Given the description of an element on the screen output the (x, y) to click on. 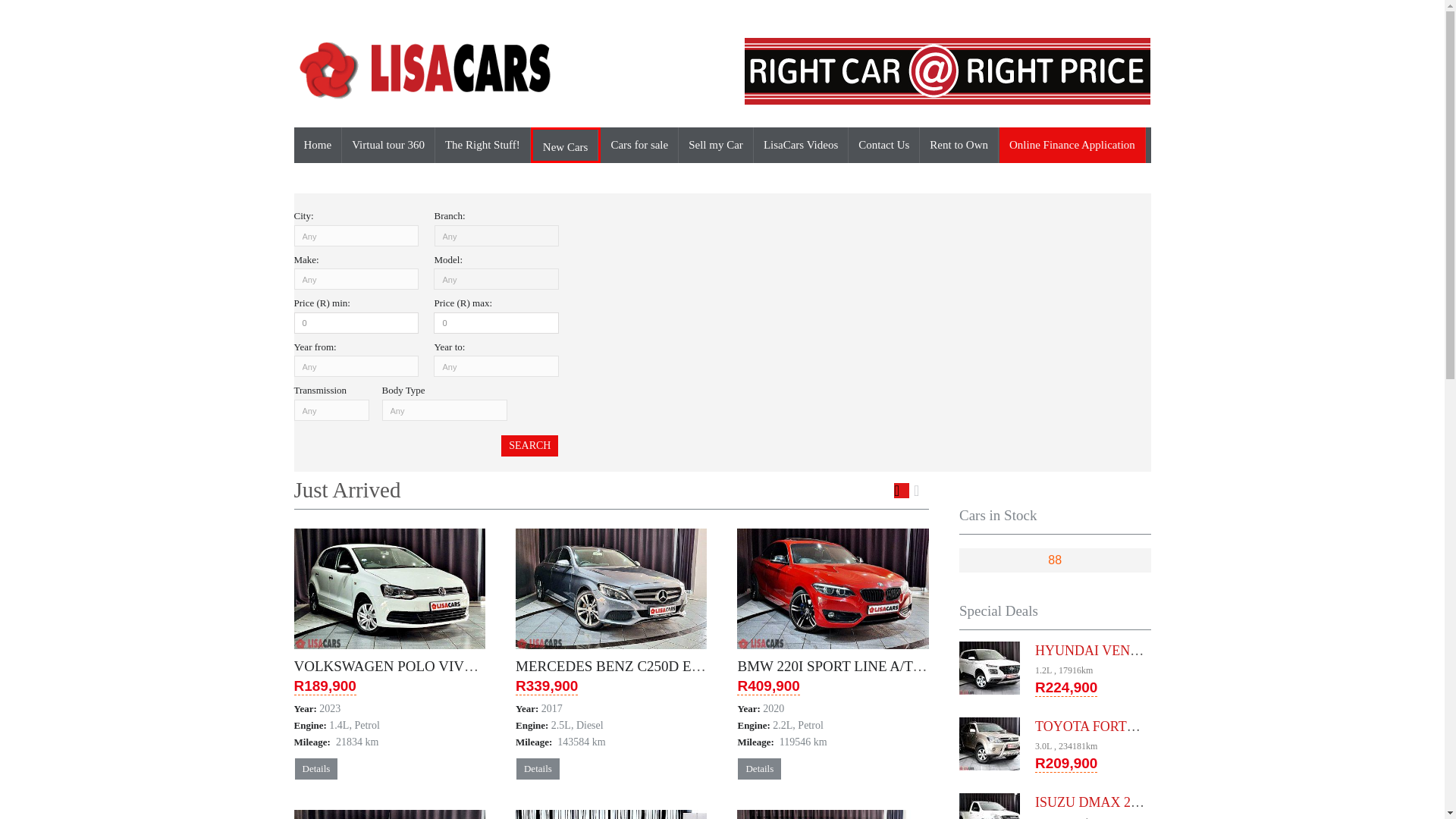
VOLKSWAGEN POLO VIVO 1.4 TRENDLINE 5DR (452, 666)
Cars for sale (638, 144)
Grid View (900, 490)
Online Finance Application (1071, 144)
Contact Us (884, 144)
The Right Stuff! (483, 144)
Home (318, 144)
Virtual tour 360 (388, 144)
List View (921, 490)
Search (528, 445)
0 (356, 322)
Details (759, 768)
Rent to Own (959, 144)
Sell my Car (716, 144)
LisaCars Videos (801, 144)
